Given the description of an element on the screen output the (x, y) to click on. 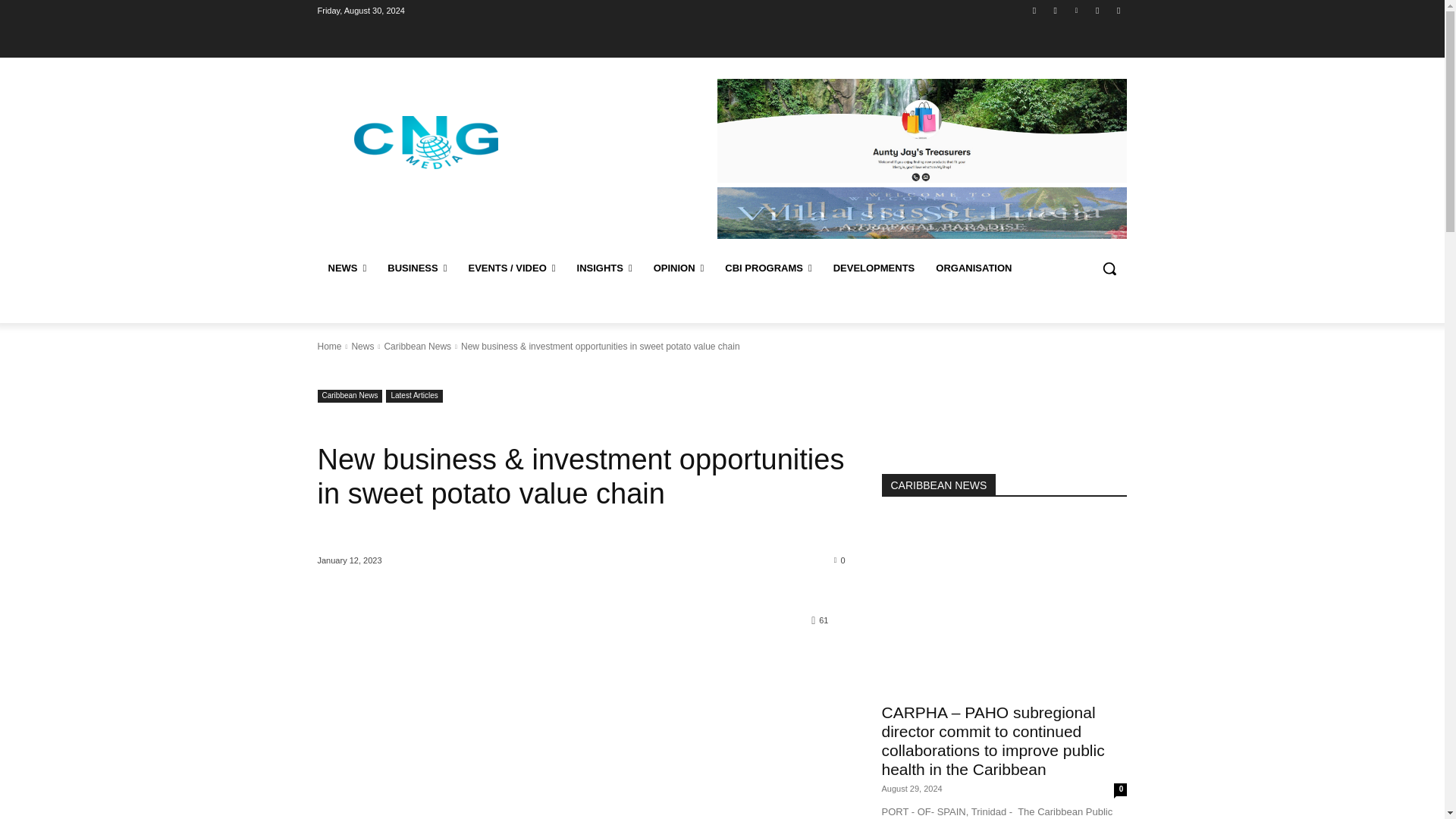
Twitter (1097, 9)
Instagram (1055, 9)
Linkedin (1075, 9)
Facebook (1034, 9)
NEWS (347, 268)
Youtube (1117, 9)
